Given the description of an element on the screen output the (x, y) to click on. 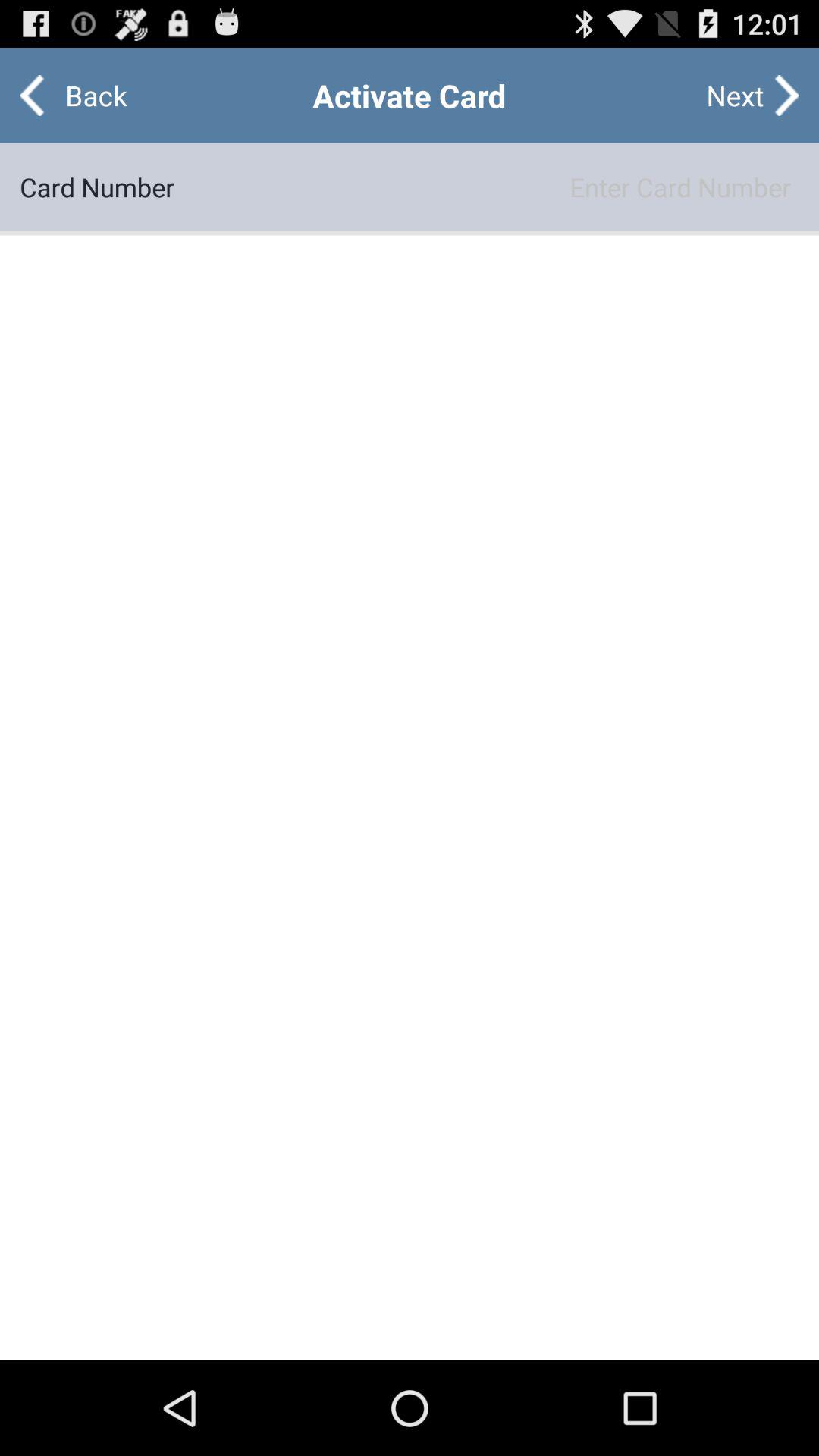
enter card number (486, 186)
